Given the description of an element on the screen output the (x, y) to click on. 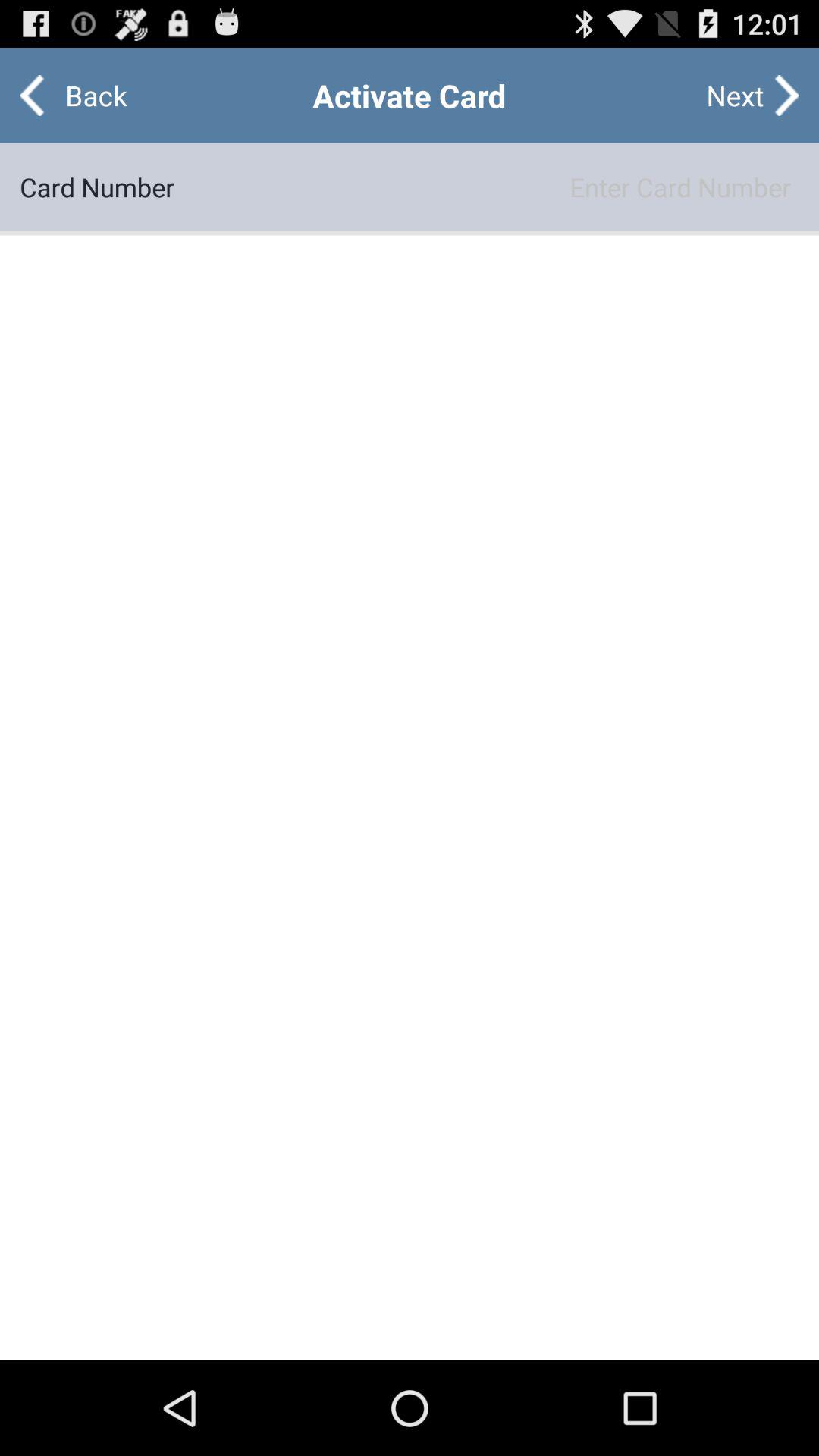
enter card number (486, 186)
